Given the description of an element on the screen output the (x, y) to click on. 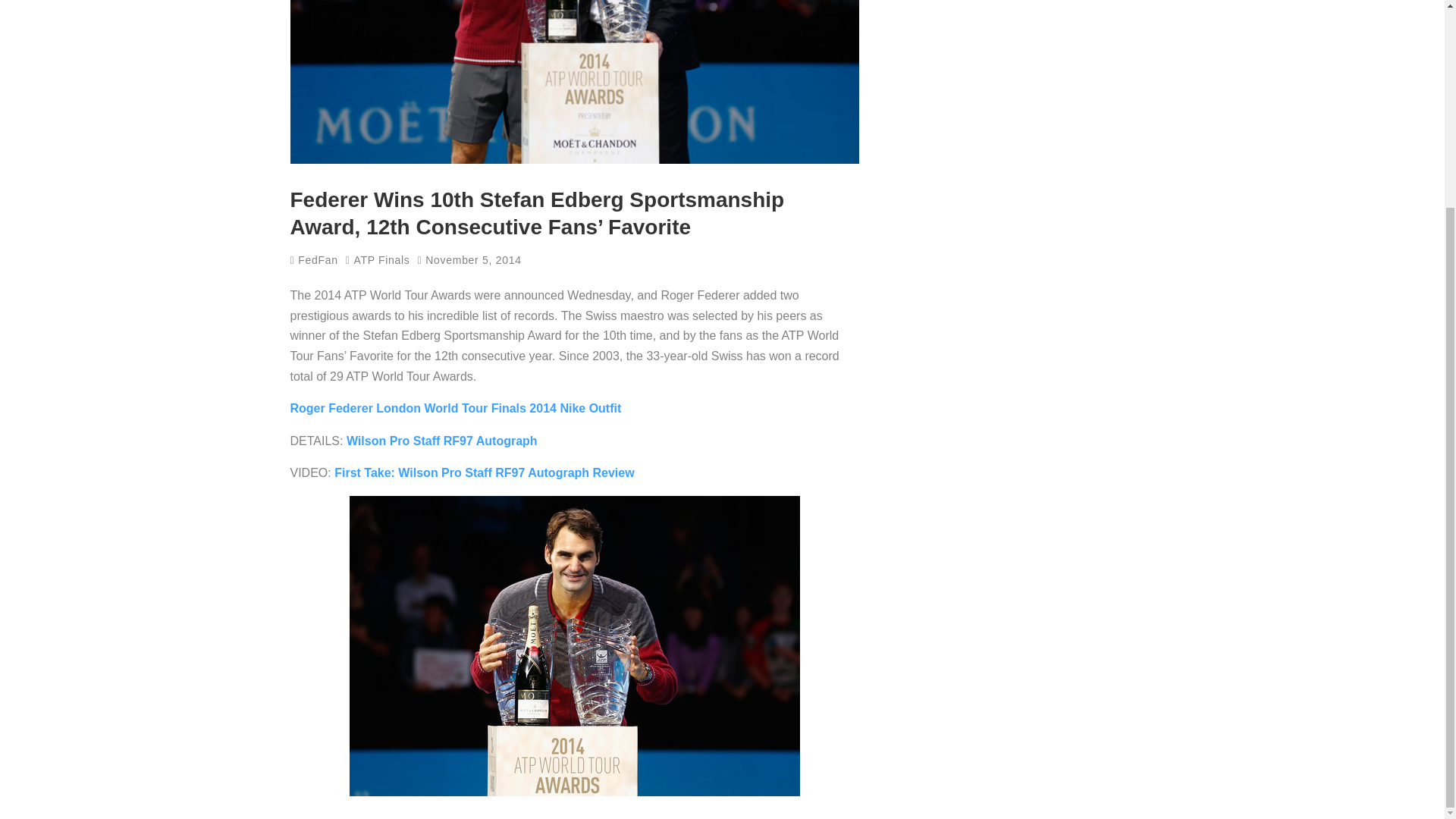
ATP Finals (381, 259)
Wilson Pro Staff RF97 Autograph (441, 440)
First Take: Wilson Pro Staff RF97 Autograph Review (483, 472)
Roger Federer London World Tour Finals 2014 Nike Outfit (455, 408)
FedFan (313, 259)
